Given the description of an element on the screen output the (x, y) to click on. 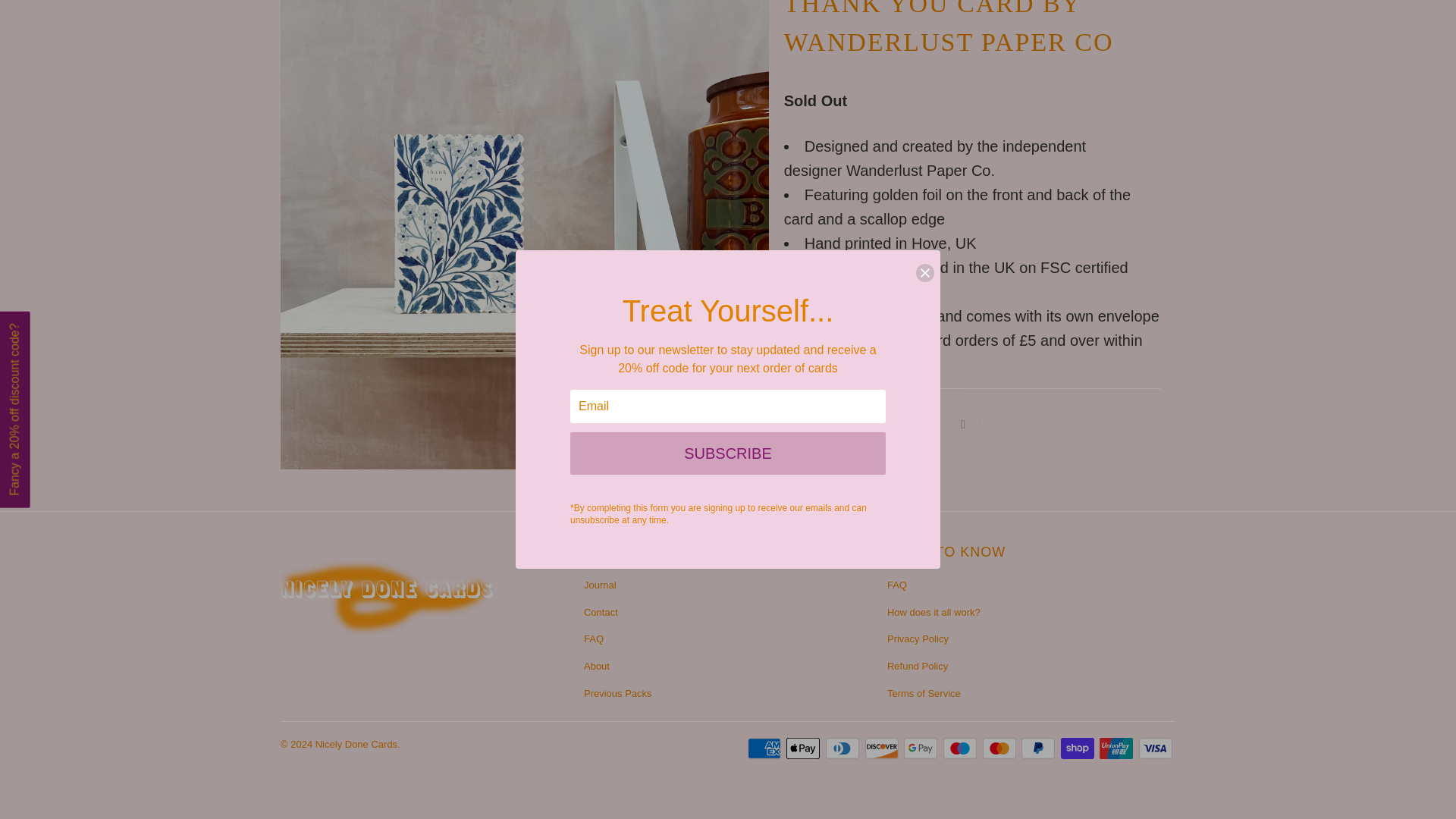
American Express (766, 748)
Shop Pay (1079, 748)
Maestro (961, 748)
Mastercard (1000, 748)
Union Pay (1117, 748)
Apple Pay (804, 748)
Share this on Pinterest (881, 420)
Email this to a friend (962, 420)
Visa (1156, 748)
Diners Club (843, 748)
PayPal (1040, 748)
Share this on Facebook (840, 420)
Share this on Twitter (800, 420)
Google Pay (922, 748)
Discover (882, 748)
